Given the description of an element on the screen output the (x, y) to click on. 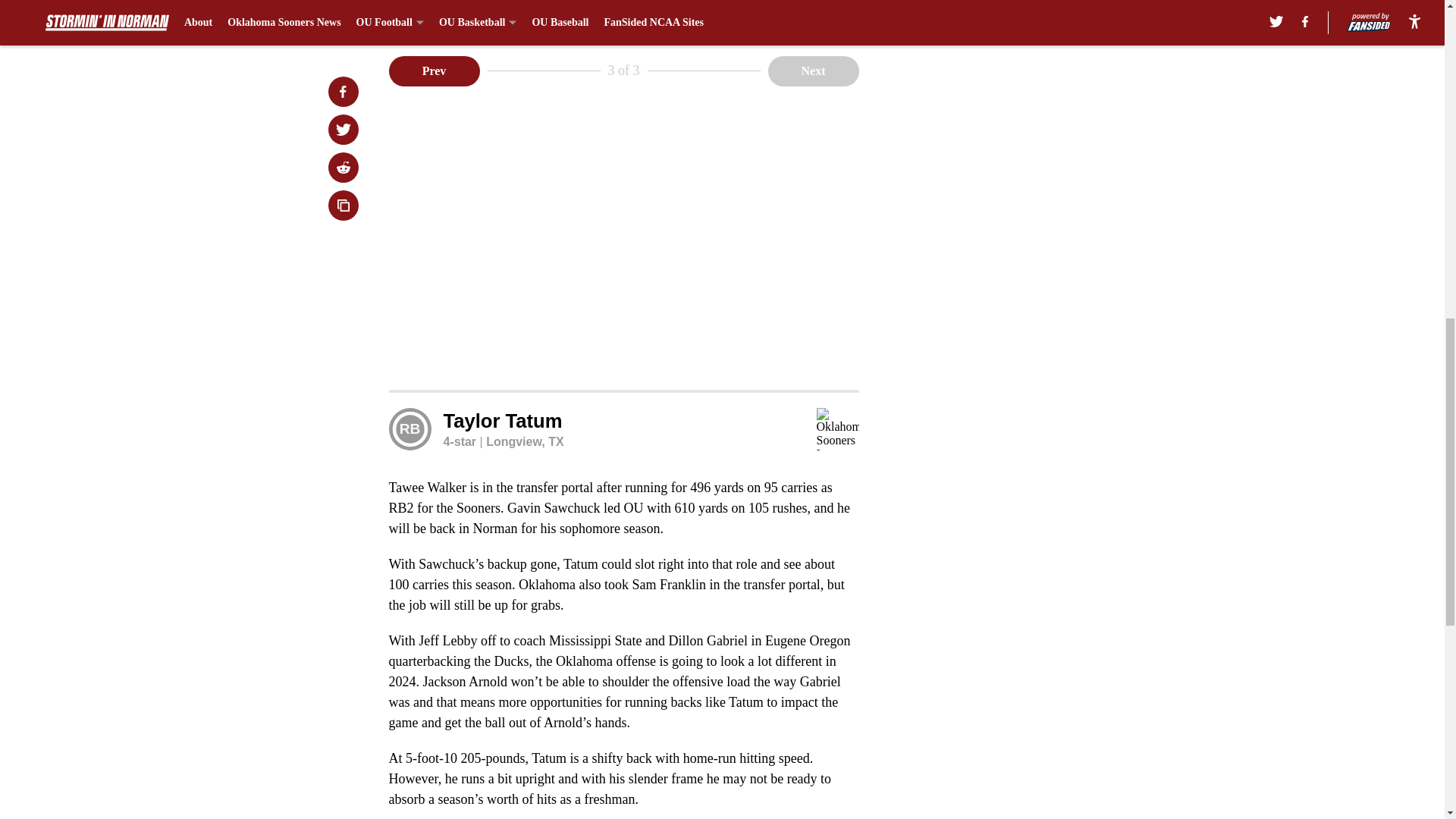
Prev (433, 71)
Next (813, 71)
